Given the description of an element on the screen output the (x, y) to click on. 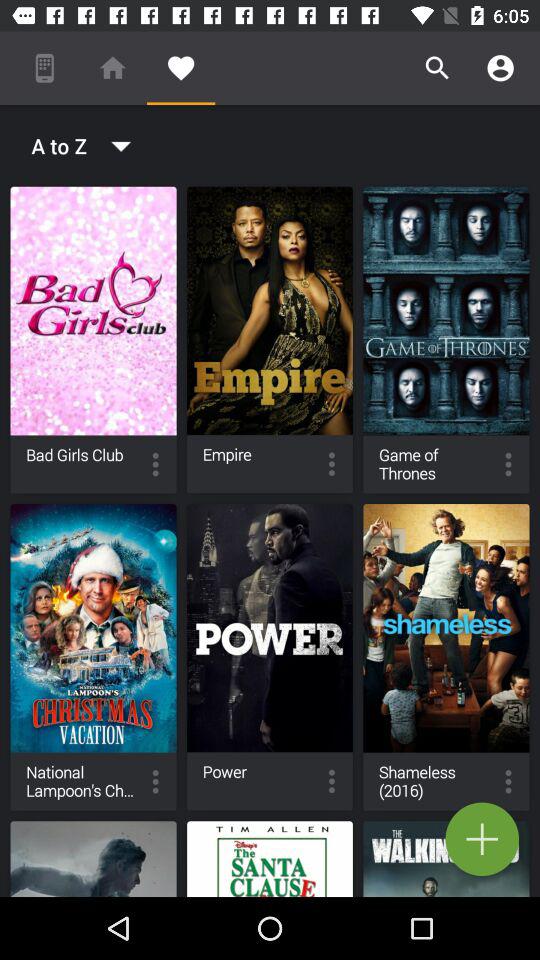
swipe to the a to z icon (74, 145)
